Given the description of an element on the screen output the (x, y) to click on. 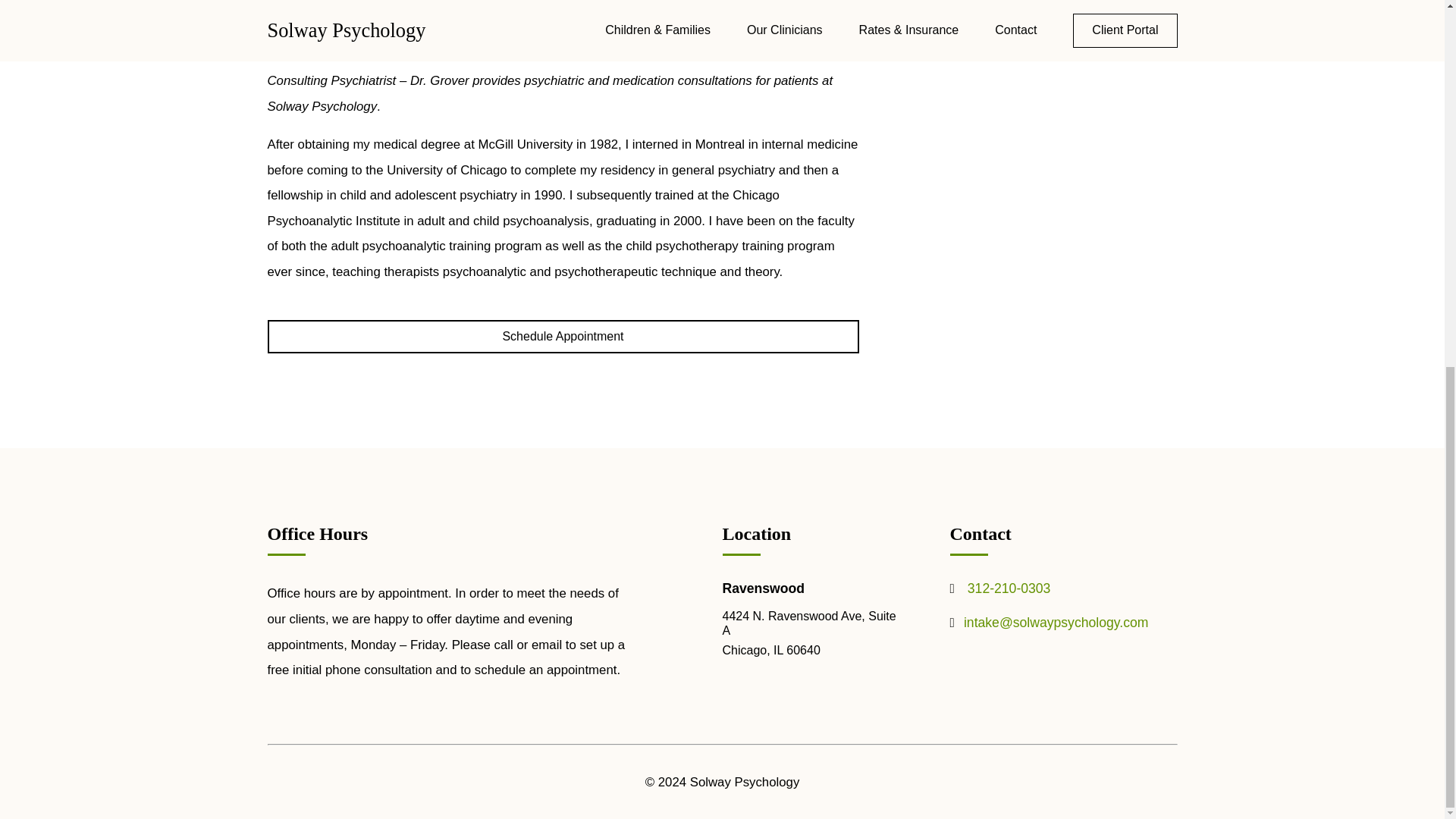
Schedule Appointment (562, 336)
312-210-0303 (1009, 588)
